Given the description of an element on the screen output the (x, y) to click on. 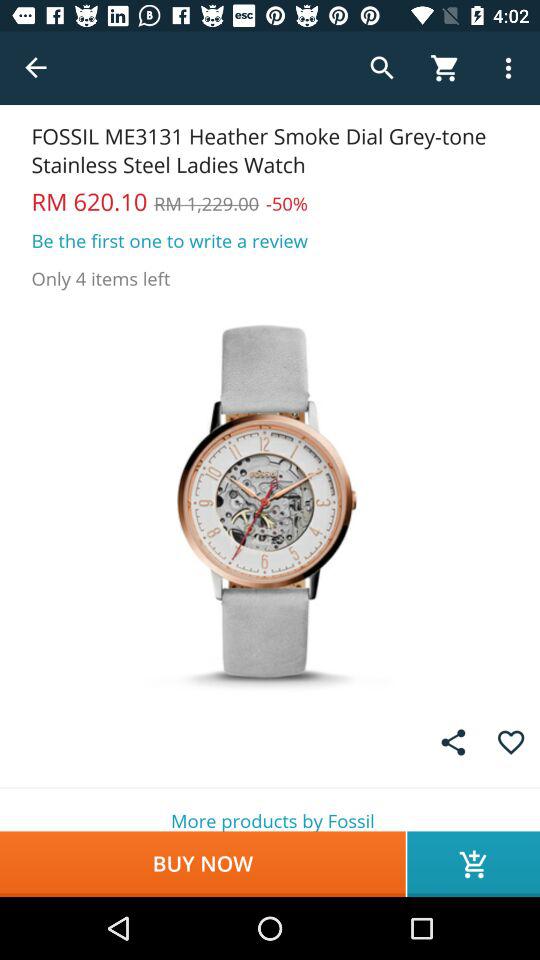
view image (269, 500)
